Given the description of an element on the screen output the (x, y) to click on. 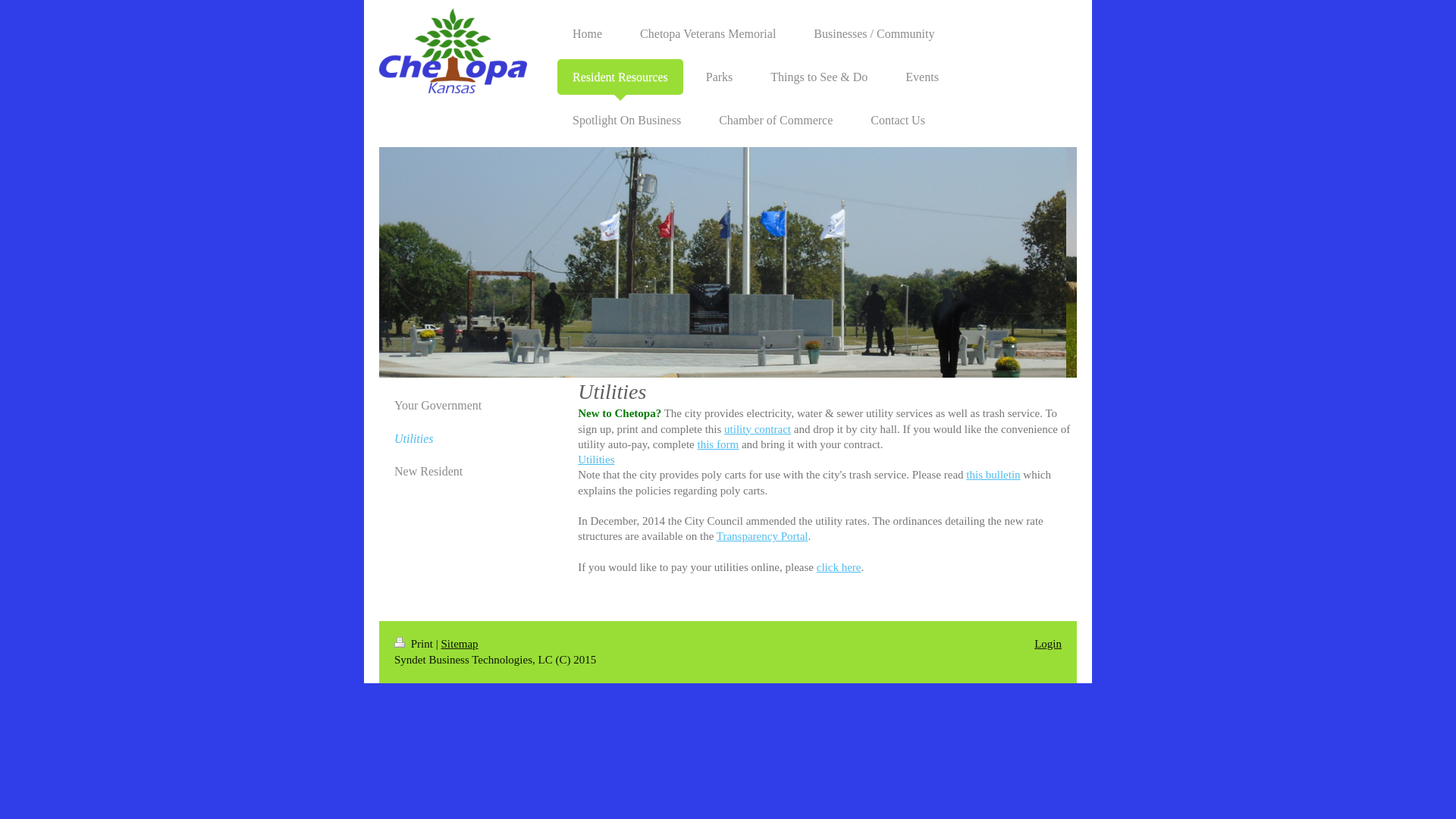
Chetopa Veterans Memorial (707, 33)
Parks (719, 76)
Resident Resources (619, 76)
Home (587, 33)
Events (921, 76)
Contact Us (898, 120)
Spotlight On Business (626, 120)
utility contra (753, 428)
Chamber of Commerce (775, 120)
this form (718, 444)
